Given the description of an element on the screen output the (x, y) to click on. 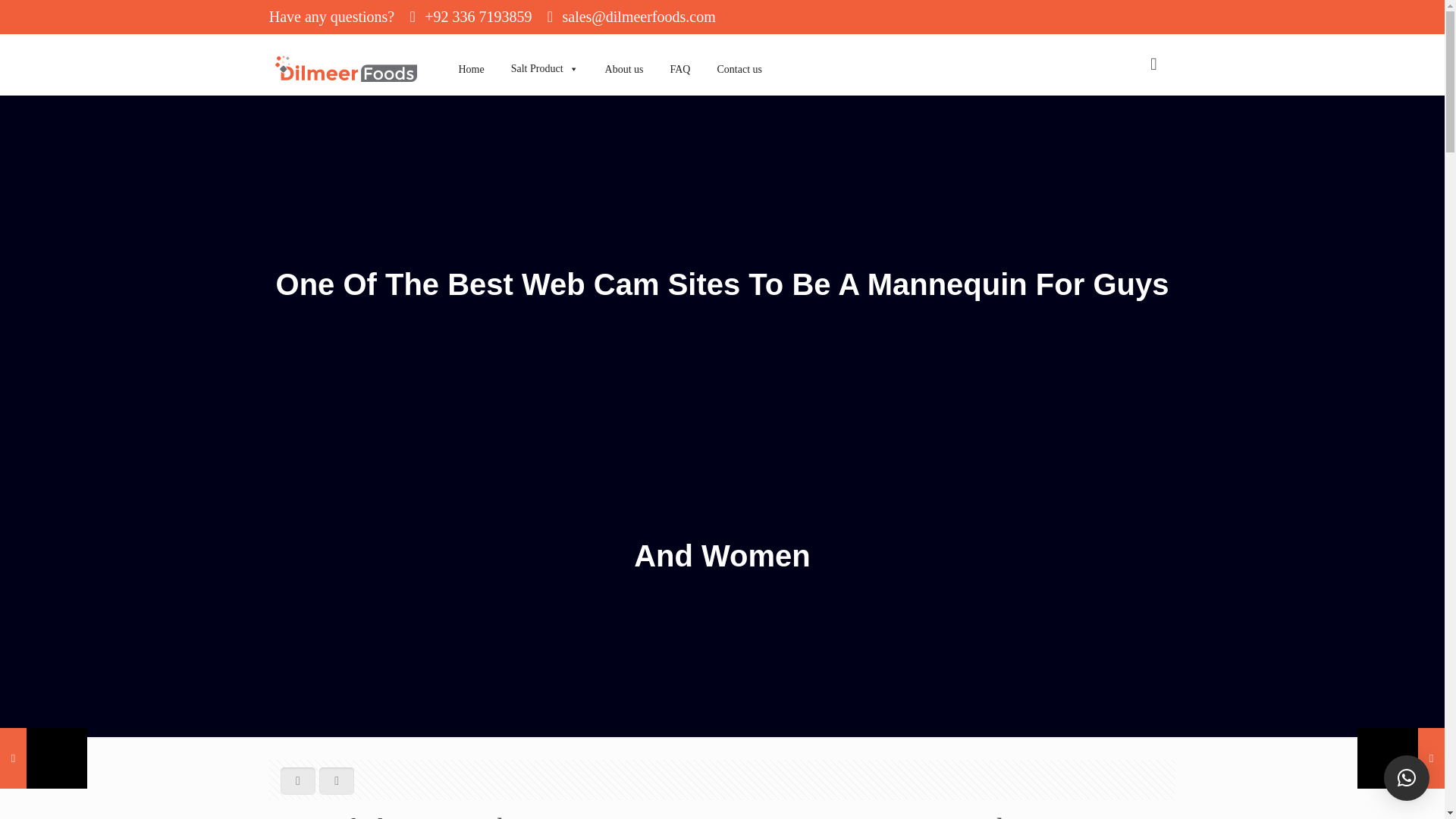
Dilmeer Foods (345, 64)
Home (465, 51)
About us (618, 51)
Salt Product (539, 51)
FAQ (674, 51)
Contact us (733, 51)
